Given the description of an element on the screen output the (x, y) to click on. 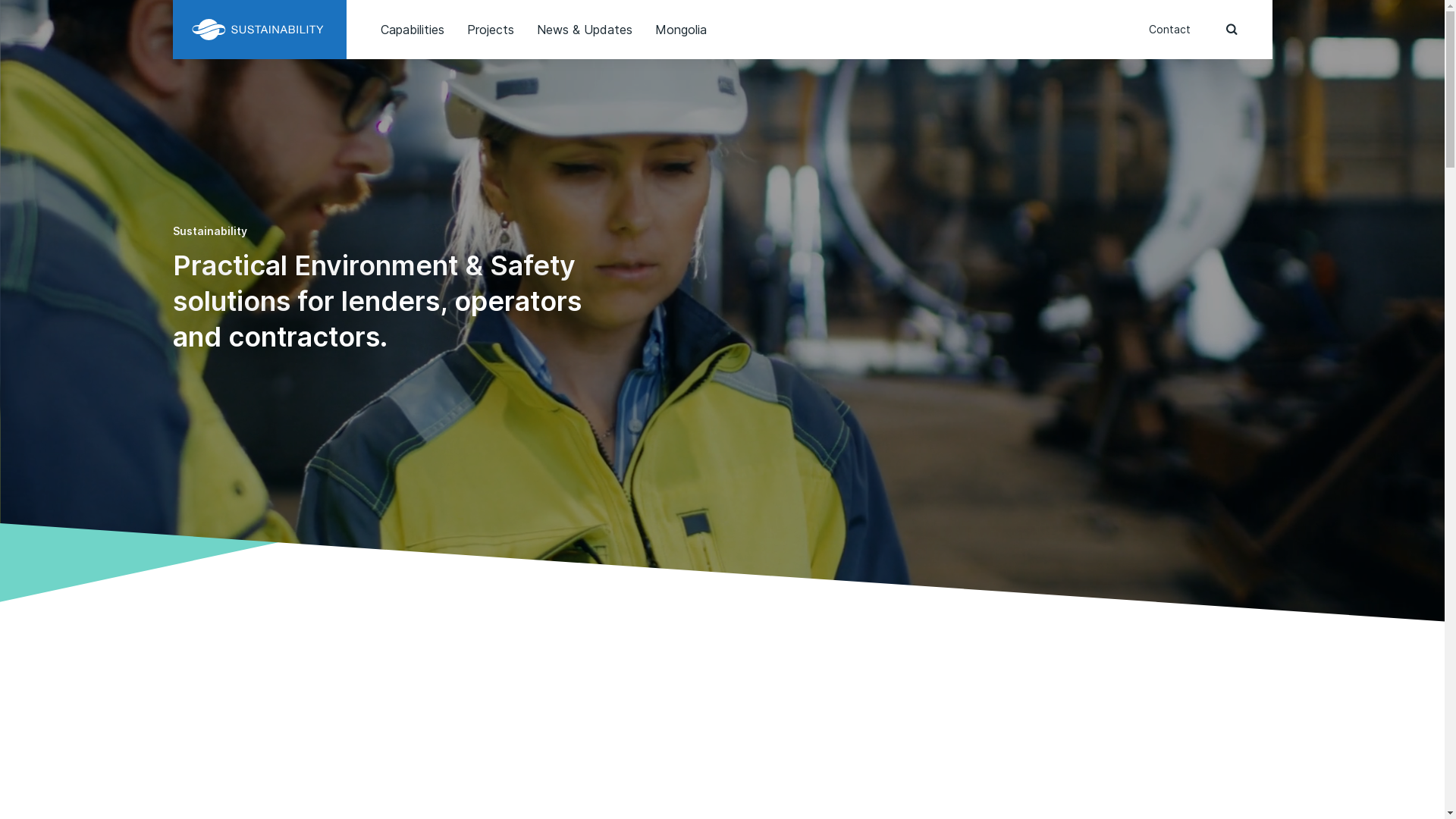
Mongolia Element type: text (680, 29)
Contact Element type: text (1168, 28)
Projects Element type: text (490, 29)
Capabilities Element type: text (412, 29)
News & Updates Element type: text (584, 29)
Sustainability WA Element type: text (259, 29)
press to open the search bar Element type: text (1231, 29)
